Given the description of an element on the screen output the (x, y) to click on. 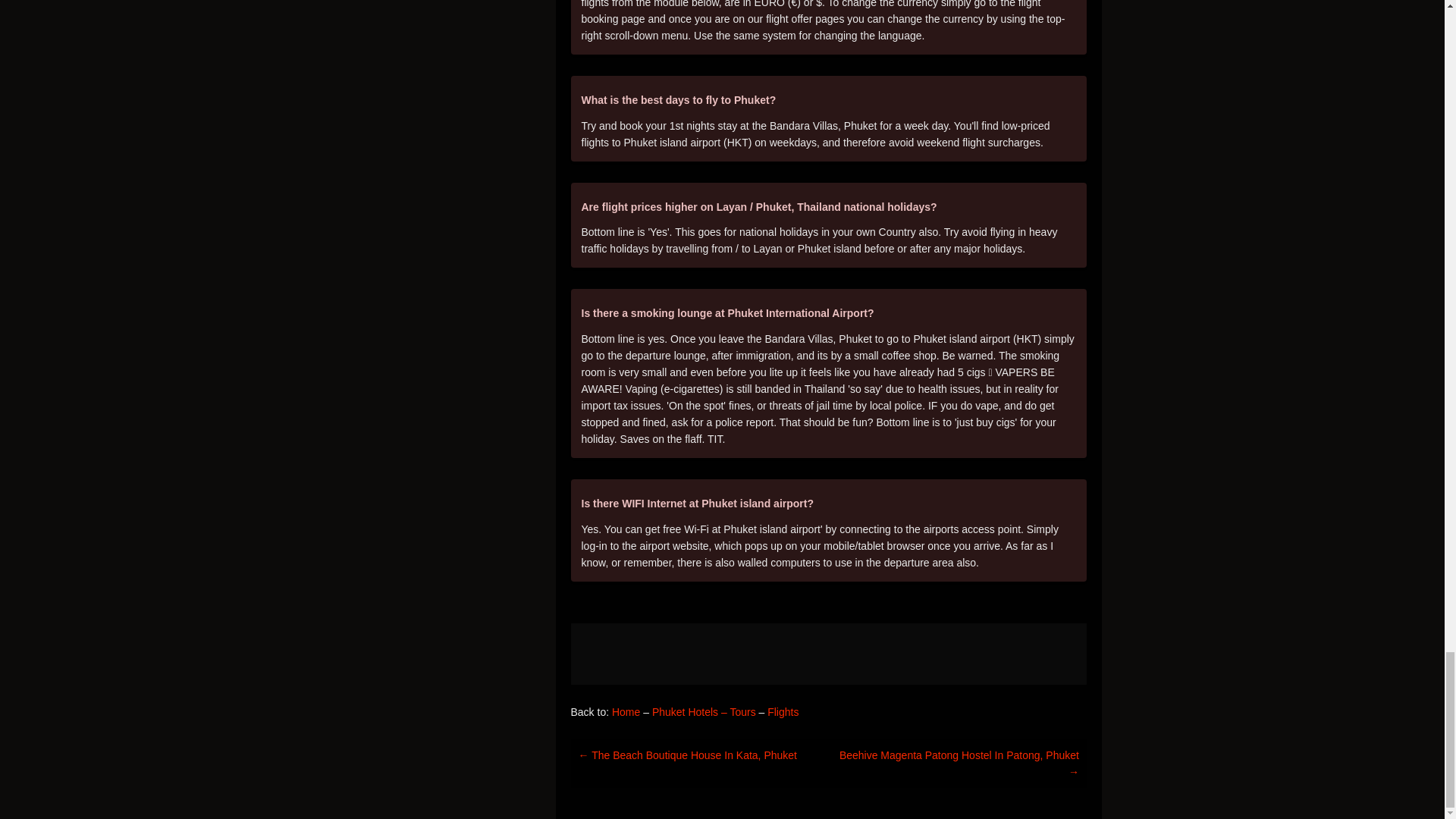
Bandara Villas, Phuket - Resort reservations. (828, 653)
